Given the description of an element on the screen output the (x, y) to click on. 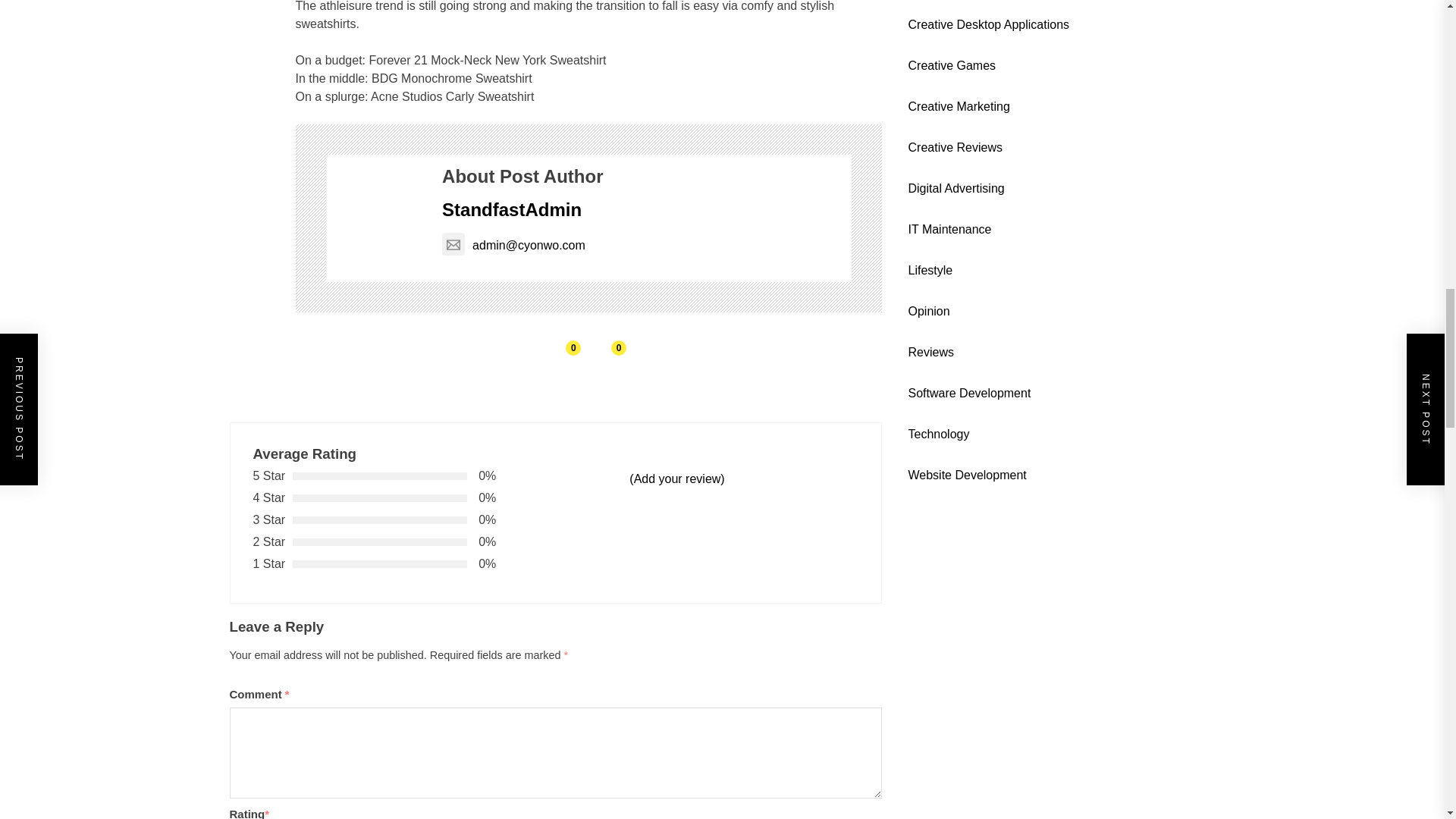
Click Here (1021, 565)
